Given the description of an element on the screen output the (x, y) to click on. 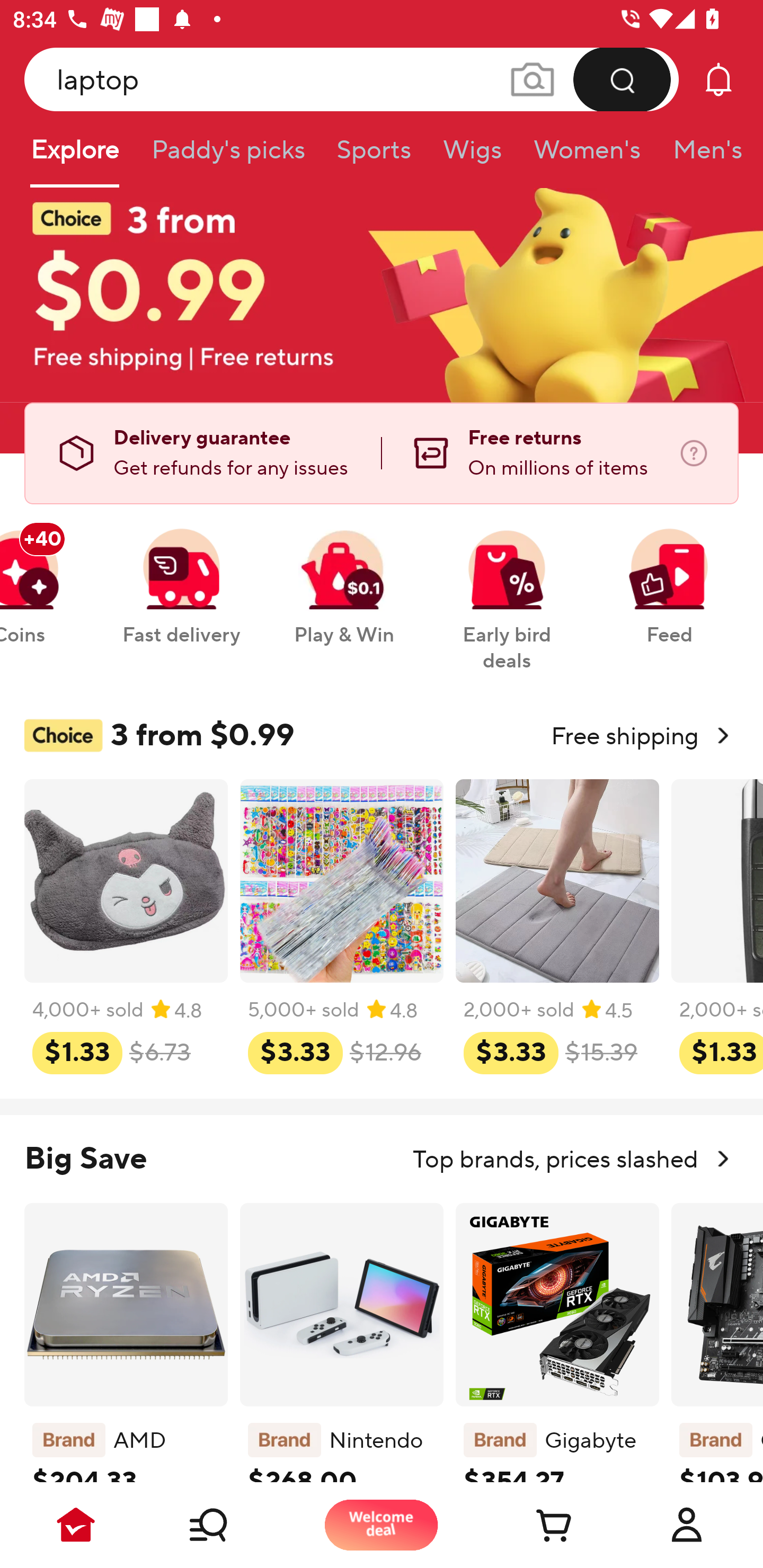
laptop (351, 79)
Paddy's picks (227, 155)
Sports (373, 155)
Wigs (472, 155)
Women's (586, 155)
Men's (701, 155)
Coinsbutton +40 Coins (43, 576)
Fast deliverybutton Fast delivery (181, 576)
Play & Winbutton Play & Win (343, 576)
Early bird dealsbutton Early bird deals (506, 589)
Feedbutton Feed (669, 576)
Shop (228, 1524)
Cart (533, 1524)
Account (686, 1524)
